Given the description of an element on the screen output the (x, y) to click on. 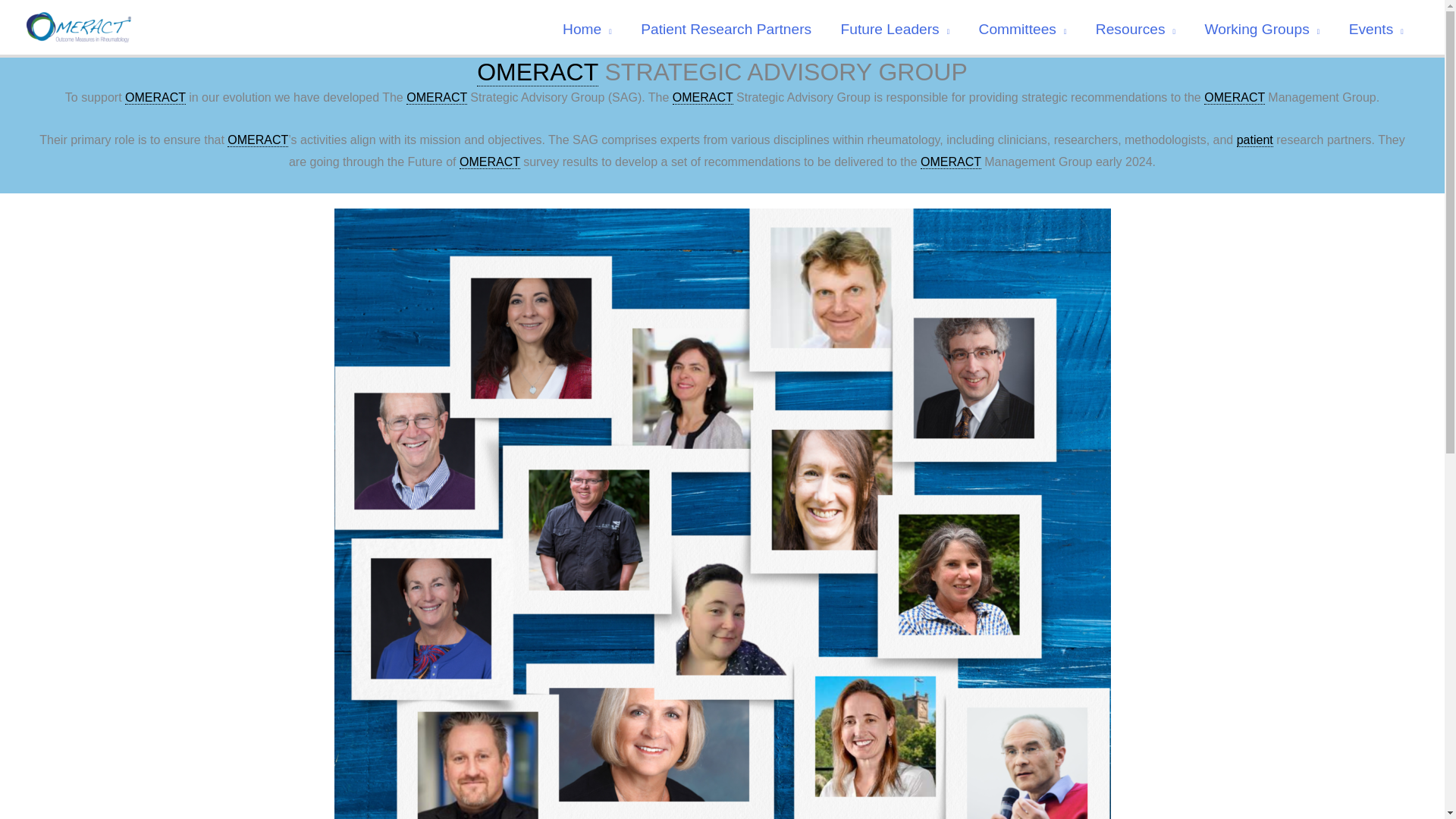
Home (587, 29)
Committees (1021, 29)
Future Leaders (894, 29)
Events (1375, 29)
Working Groups (1261, 29)
Patient Research Partners (725, 29)
Resources (1136, 29)
